Given the description of an element on the screen output the (x, y) to click on. 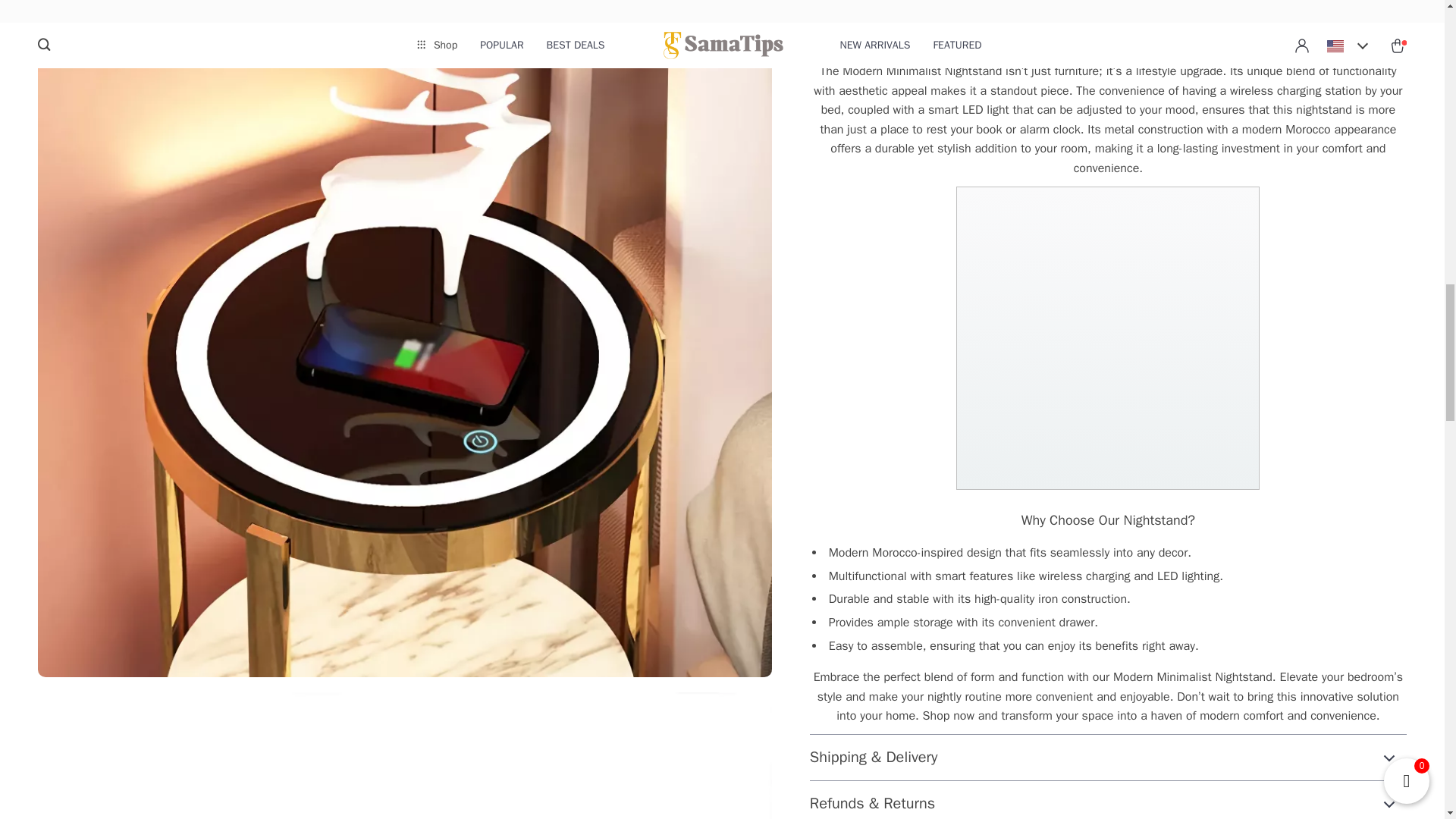
172972-34d2e5.webp (404, 755)
3 (1107, 337)
